Given the description of an element on the screen output the (x, y) to click on. 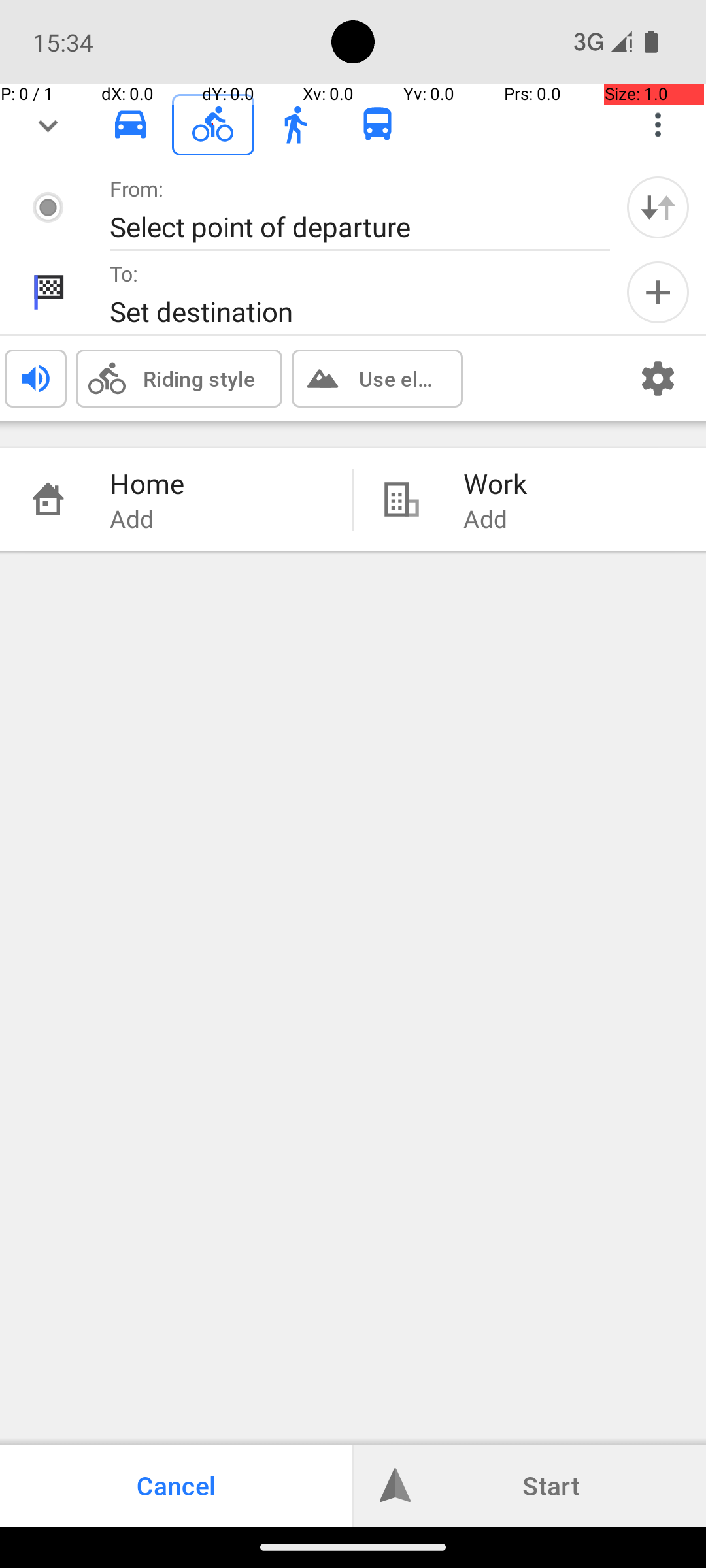
fold/unfold Element type: android.widget.ImageView (48, 124)
Choose app modes Element type: android.widget.ImageView (657, 124)
Driving Element type: android.widget.FrameLayout (130, 124)
Cycling Element type: android.widget.FrameLayout (212, 124)
Walking Element type: android.widget.FrameLayout (295, 124)
Public transport Element type: android.widget.FrameLayout (377, 124)
From: Element type: android.widget.TextView (136, 188)
Select point of departure Element type: android.widget.TextView (345, 226)
Swap Element type: android.widget.FrameLayout (657, 207)
To: Element type: android.widget.TextView (123, 273)
Set destination Element type: android.widget.TextView (345, 310)
Driving unchecked Element type: android.widget.ImageView (130, 124)
Cycling checked Element type: android.widget.ImageView (212, 124)
Walking unchecked Element type: android.widget.ImageView (294, 124)
Public transport unchecked Element type: android.widget.ImageView (377, 124)
Riding style Element type: android.widget.TextView (198, 378)
Use elevation data Element type: android.widget.TextView (396, 378)
